Given the description of an element on the screen output the (x, y) to click on. 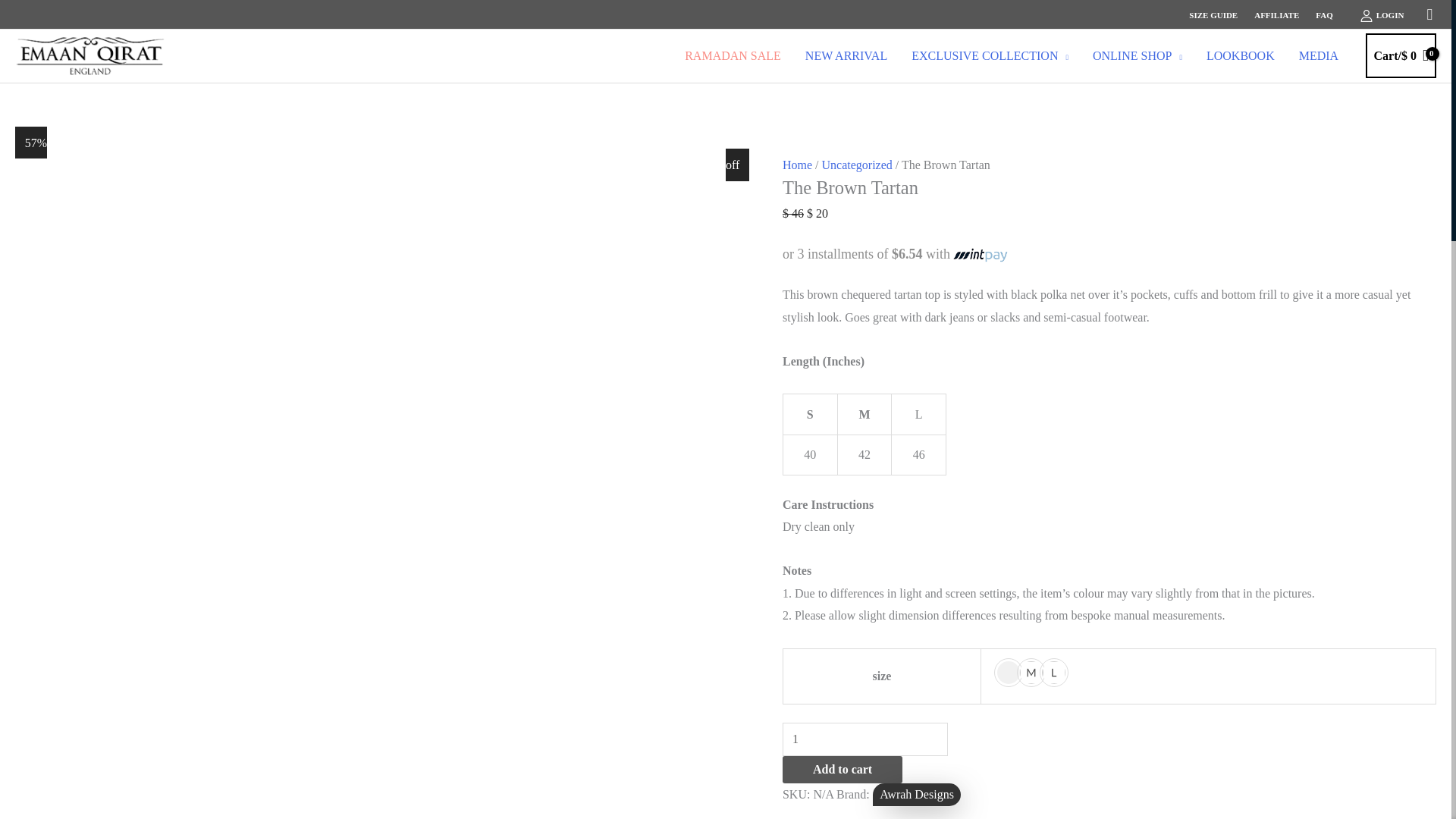
RAMADAN SALE (732, 54)
LOOKBOOK (1240, 54)
MEDIA (1319, 54)
LOGIN (1381, 14)
EXCLUSIVE COLLECTION (989, 54)
FAQ (1323, 14)
1 (865, 738)
NEW ARRIVAL (846, 54)
ONLINE SHOP (1136, 54)
AFFILIATE (1276, 14)
SIZE GUIDE (1213, 14)
